Given the description of an element on the screen output the (x, y) to click on. 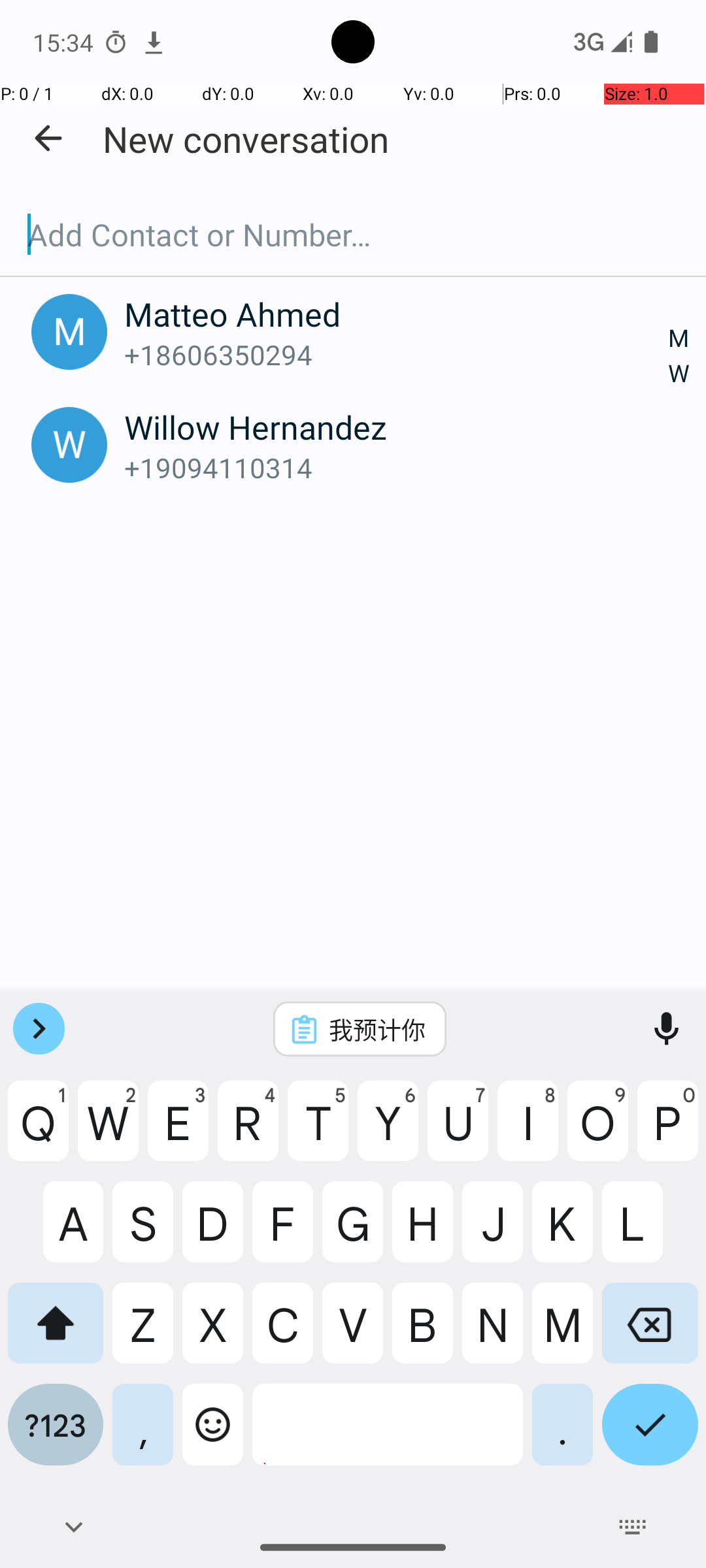
M
W Element type: android.widget.TextView (678, 356)
Matteo Ahmed Element type: android.widget.TextView (397, 313)
+18606350294 Element type: android.widget.TextView (397, 354)
Willow Hernandez Element type: android.widget.TextView (397, 426)
+19094110314 Element type: android.widget.TextView (397, 467)
